Given the description of an element on the screen output the (x, y) to click on. 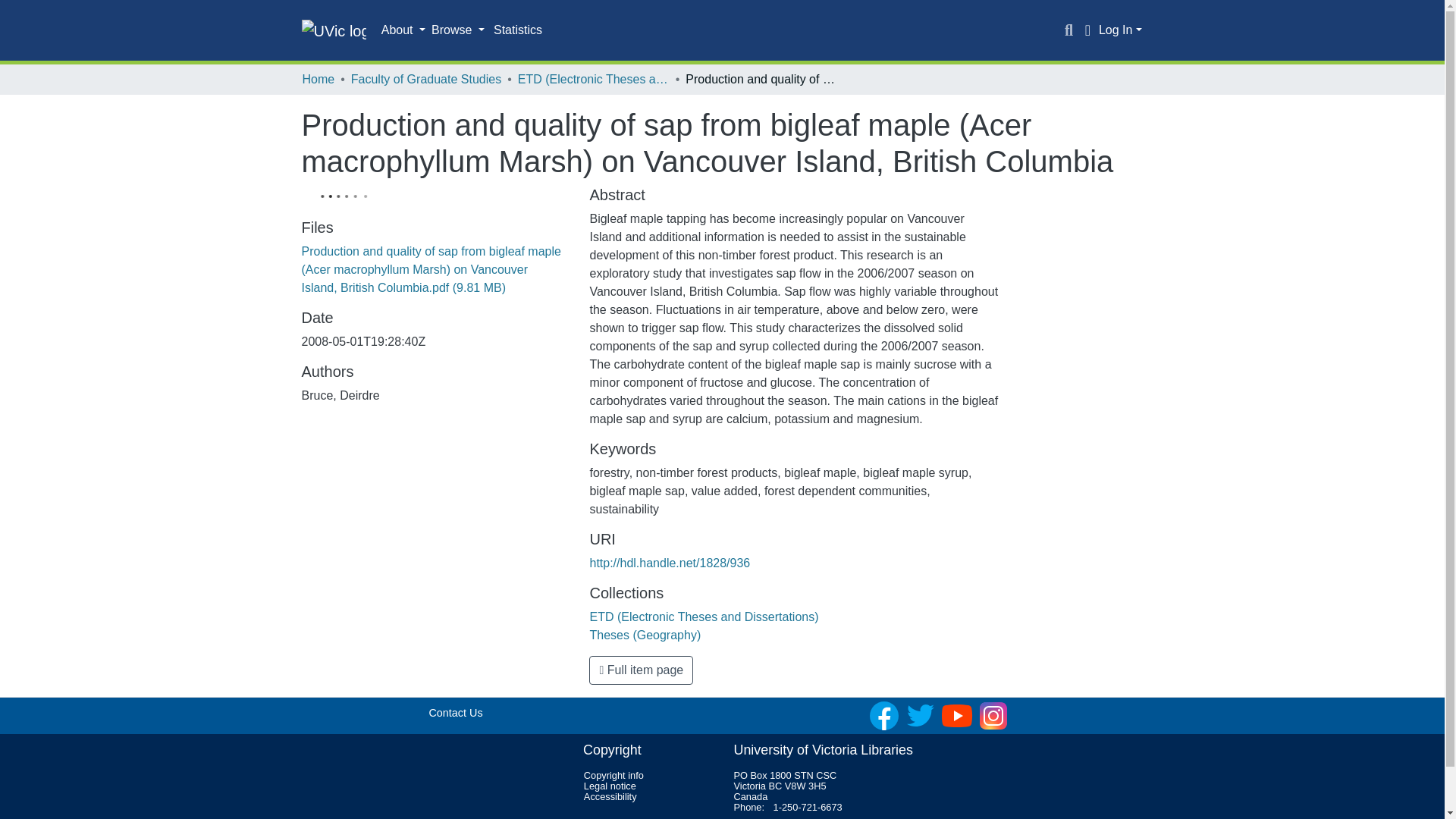
Home (317, 79)
Full item page (641, 670)
Faculty of Graduate Studies (425, 79)
About (403, 30)
Language switch (1087, 30)
Contact Us (454, 712)
Search (1068, 30)
Browse (457, 30)
Log In (1119, 29)
Statistics (517, 30)
Statistics (517, 30)
